Given the description of an element on the screen output the (x, y) to click on. 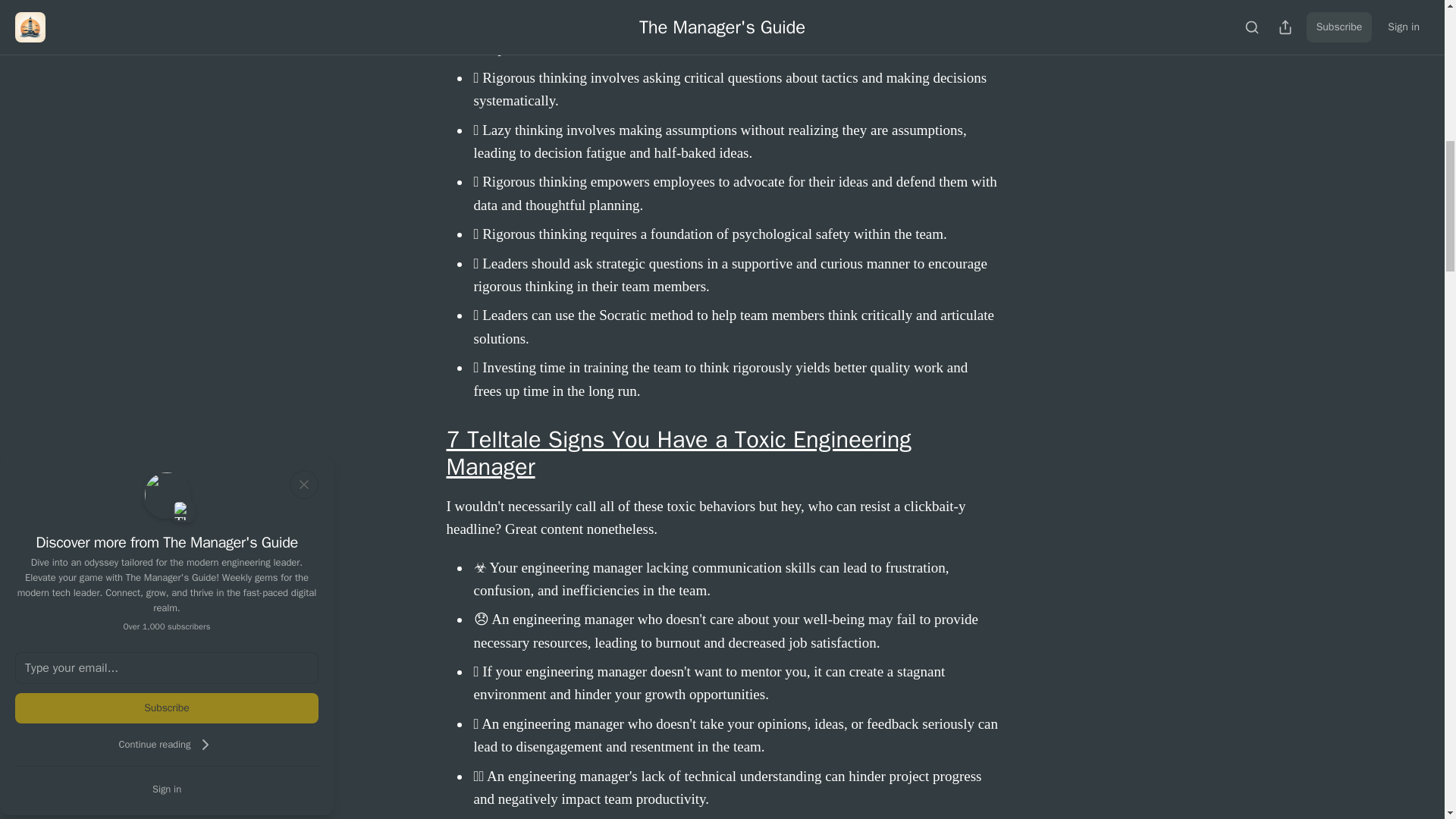
Subscribe (166, 707)
Sign in (166, 788)
7 Telltale Signs You Have a Toxic Engineering Manager (678, 453)
